Given the description of an element on the screen output the (x, y) to click on. 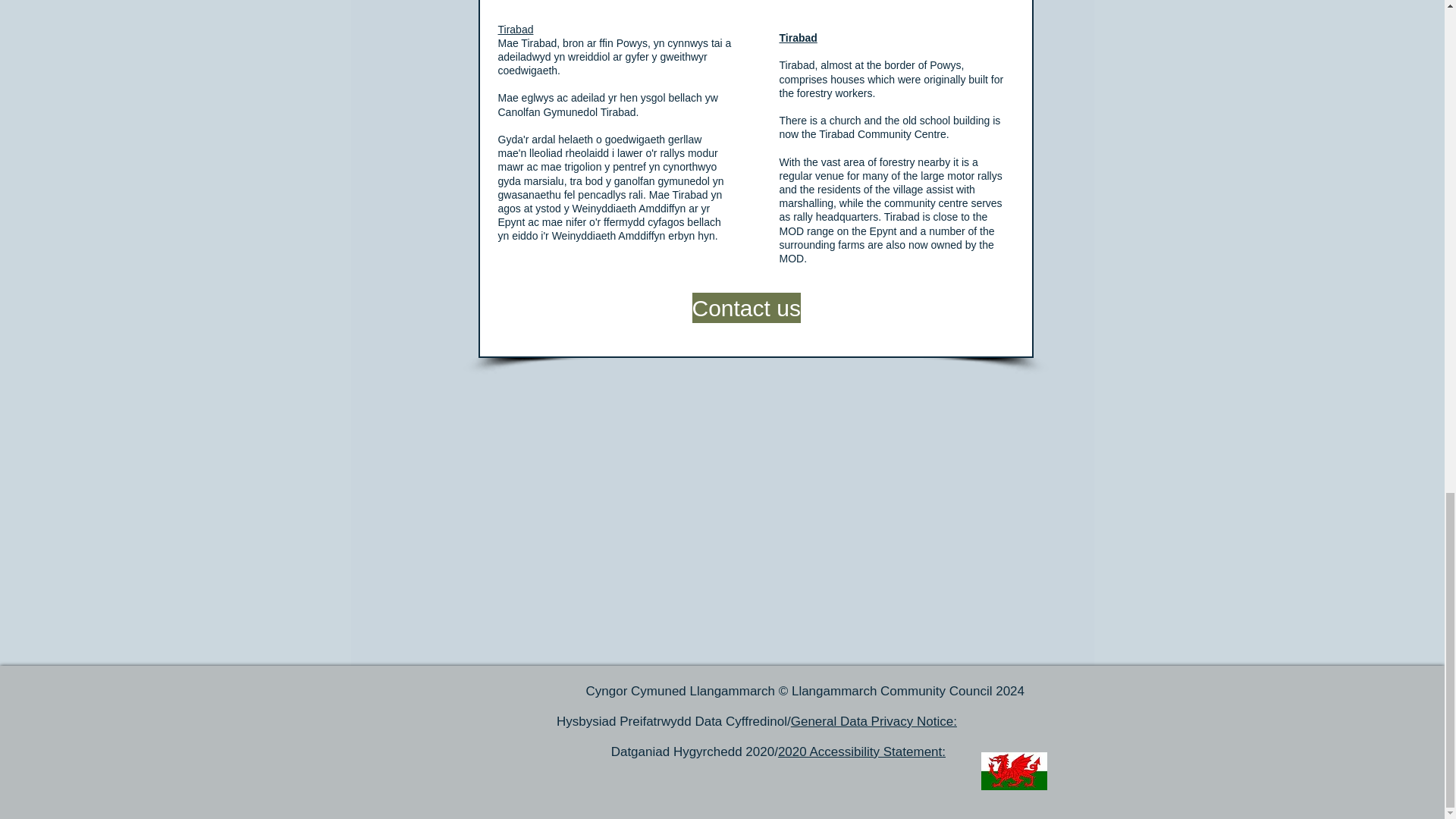
Contact us (745, 307)
2020 Accessibility Statement: (860, 751)
General Data Privacy Notice: (873, 721)
